Given the description of an element on the screen output the (x, y) to click on. 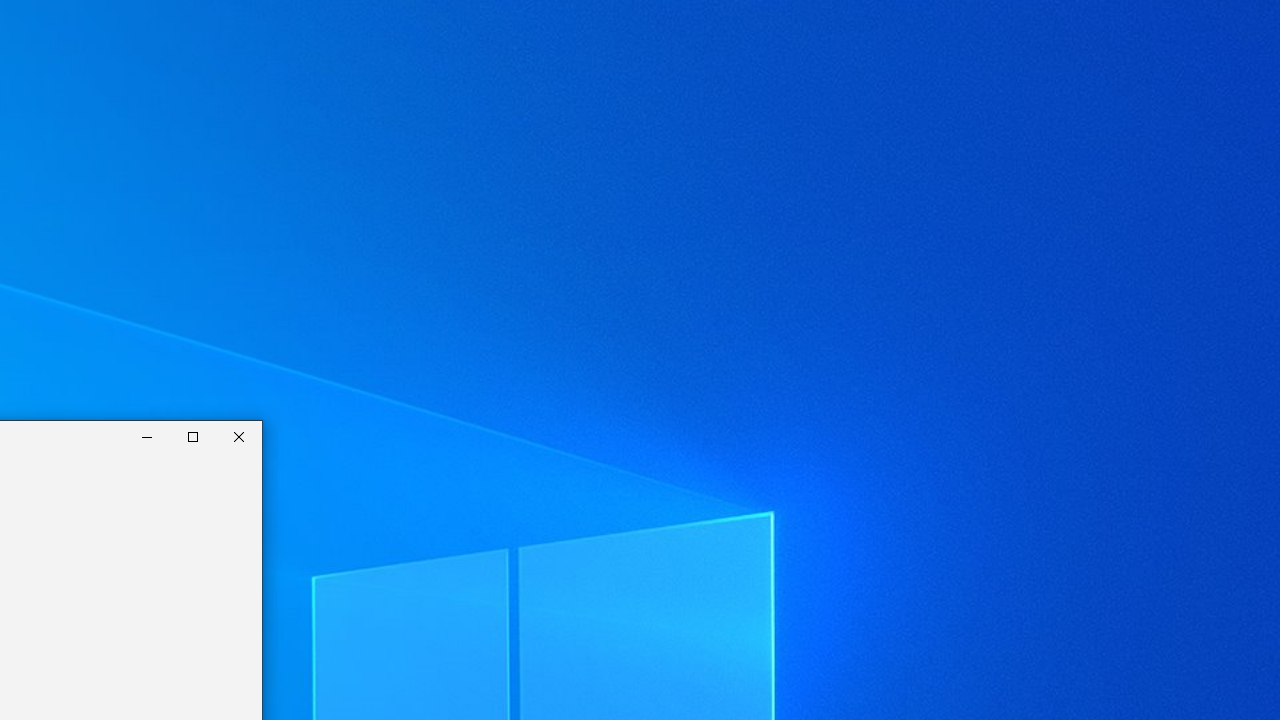
Maximize Calculator (193, 436)
Minimize Calculator (147, 436)
Close Calculator (239, 436)
